Given the description of an element on the screen output the (x, y) to click on. 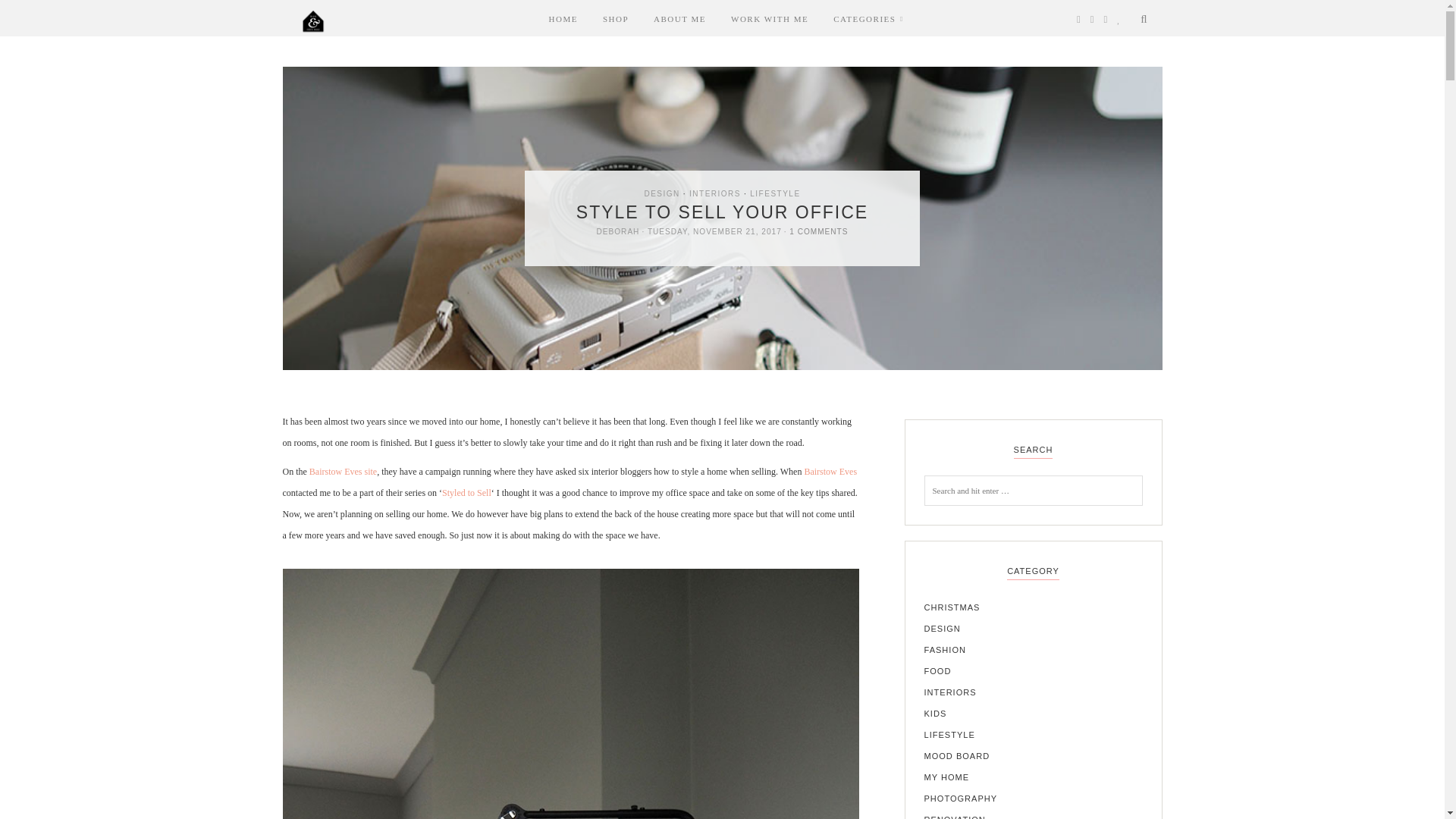
WORK WITH ME (769, 18)
SHOP (615, 18)
ABOUT ME (679, 18)
HOME (563, 18)
CATEGORIES (864, 18)
